Given the description of an element on the screen output the (x, y) to click on. 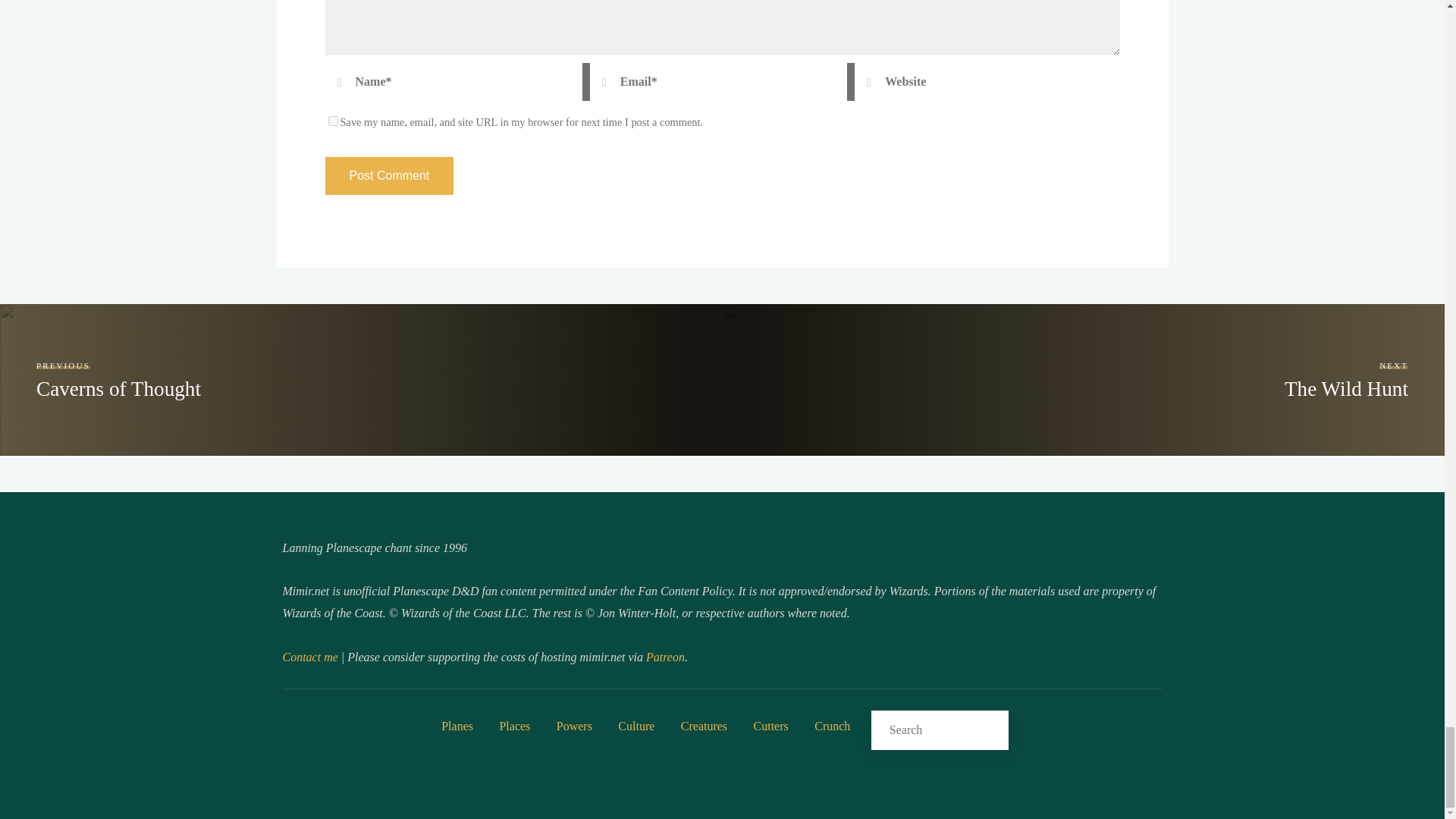
Post Comment (388, 175)
yes (332, 121)
